Given the description of an element on the screen output the (x, y) to click on. 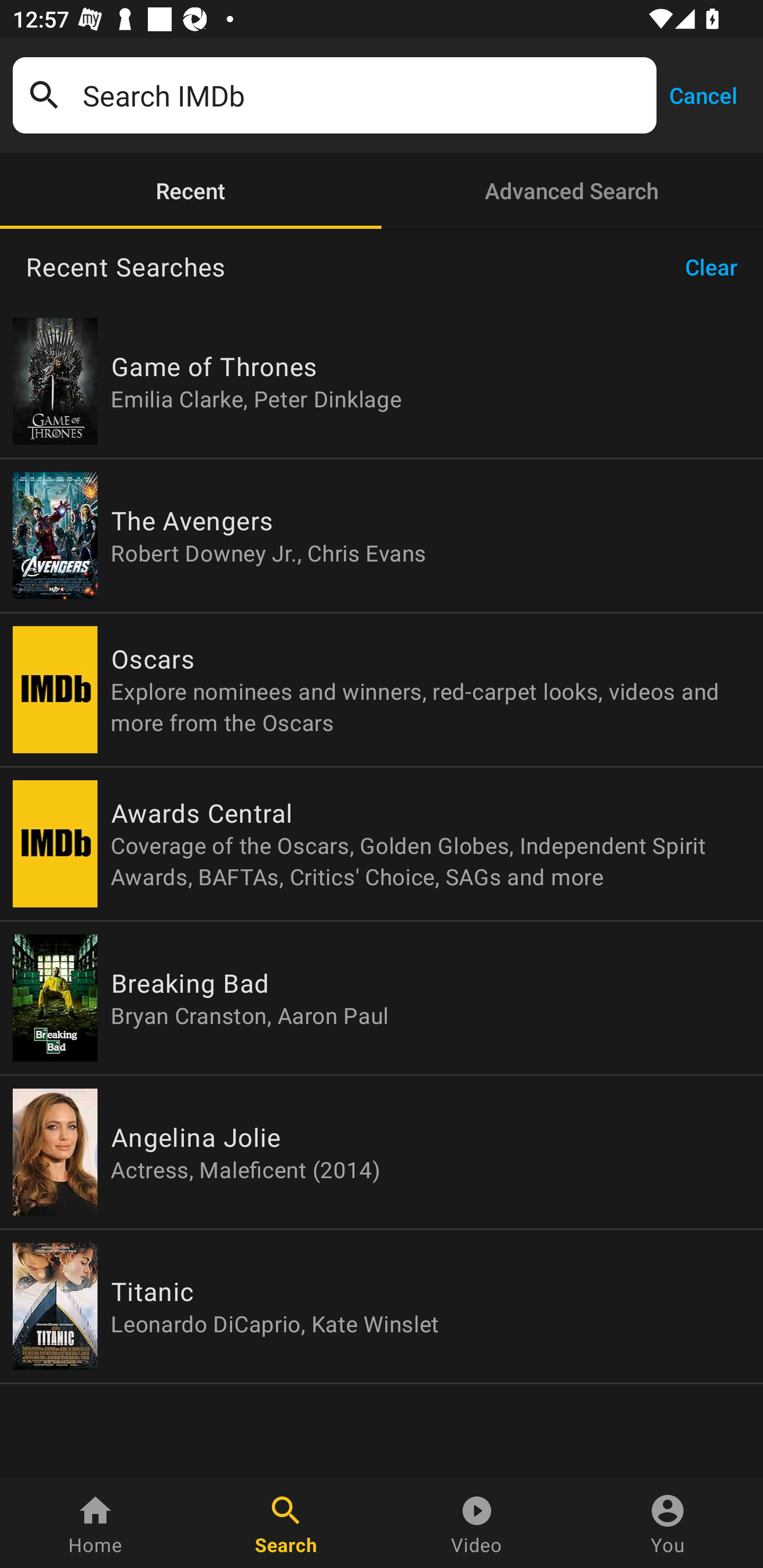
Cancel (703, 94)
Search IMDb (363, 95)
Advanced Search (572, 190)
Clear (717, 266)
Game of Thrones Emilia Clarke, Peter Dinklage (381, 381)
The Avengers Robert Downey Jr., Chris Evans (381, 535)
Breaking Bad Bryan Cranston, Aaron Paul (381, 997)
Angelina Jolie Actress, Maleficent (2014) (381, 1151)
Titanic Leonardo DiCaprio, Kate Winslet (381, 1305)
Home (95, 1523)
Video (476, 1523)
You (667, 1523)
